Given the description of an element on the screen output the (x, y) to click on. 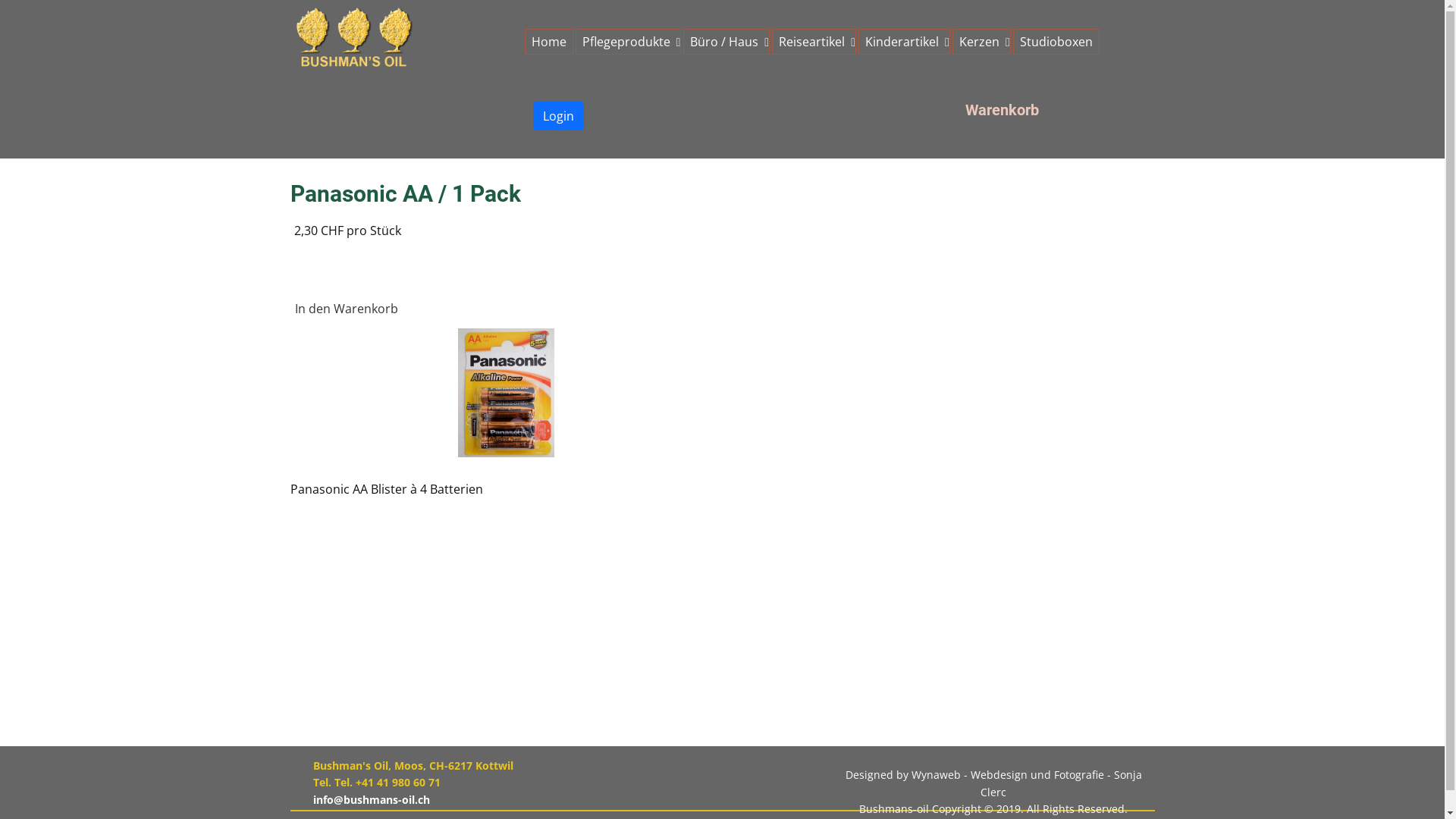
In den Warenkorb Element type: text (346, 309)
Login Element type: text (557, 115)
Home Element type: text (548, 41)
Kinderartikel Element type: text (904, 41)
Studioboxen Element type: text (1056, 41)
Panasonic AA / 1 Pack Element type: hover (505, 390)
Kerzen Element type: text (981, 41)
Pflegeprodukte Element type: text (627, 41)
info@bushmans-oil.ch Element type: text (370, 799)
Panasonic AA / 1 Pack Element type: hover (505, 392)
Reiseartikel Element type: text (813, 41)
